Given the description of an element on the screen output the (x, y) to click on. 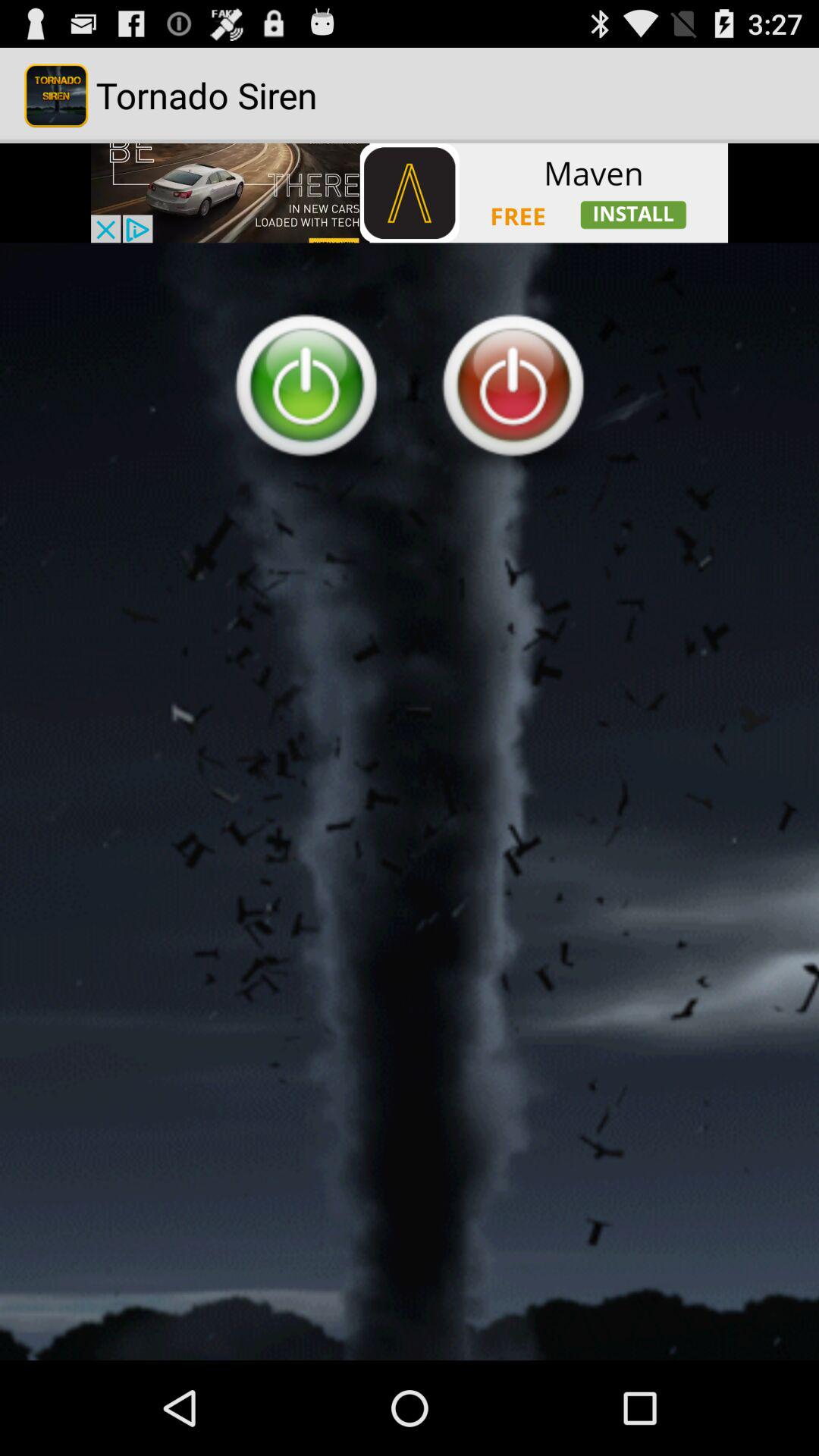
go to advertisement (409, 192)
